Given the description of an element on the screen output the (x, y) to click on. 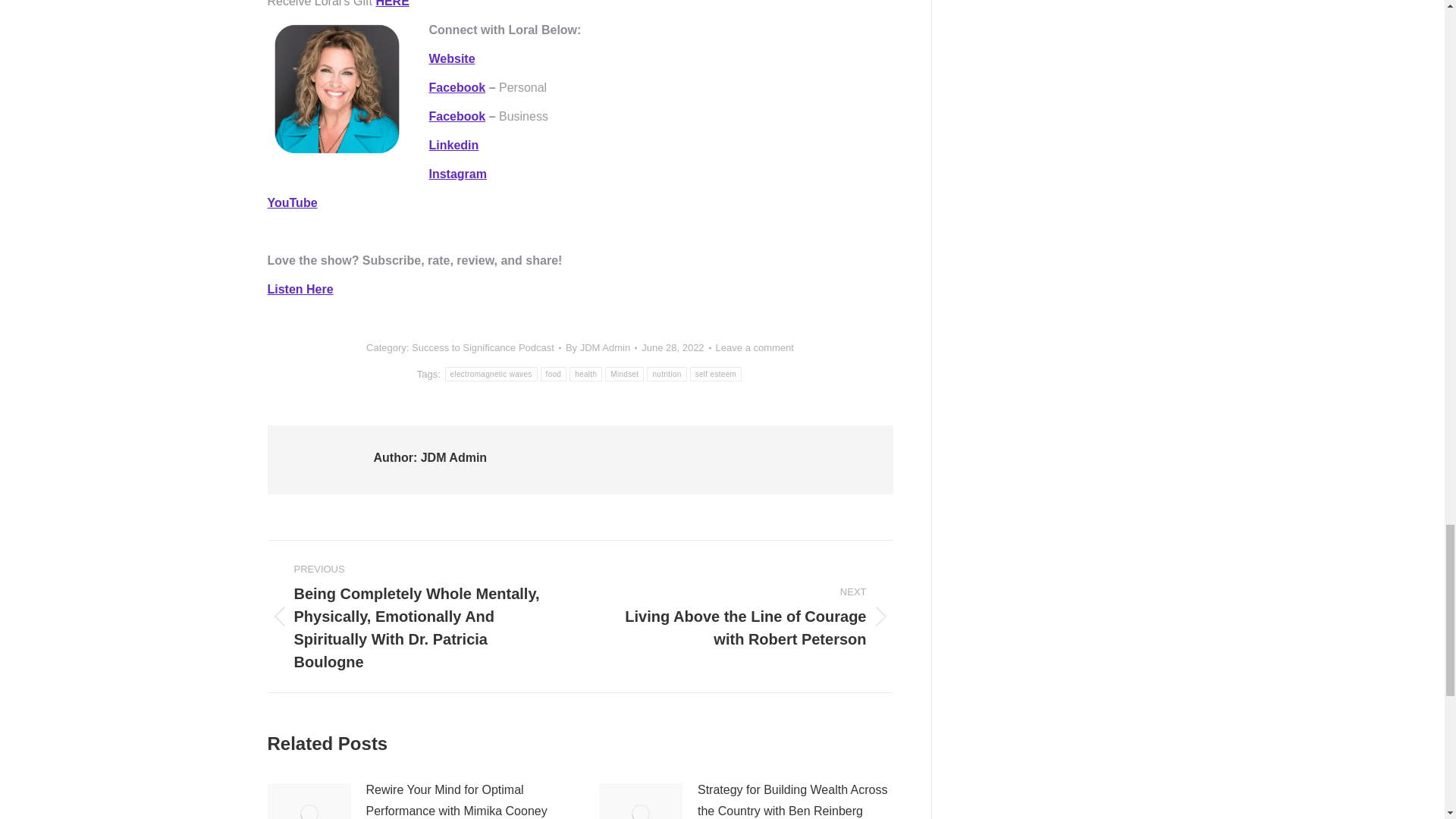
By JDM Admin (601, 347)
Leave a comment (754, 347)
Instagram (457, 173)
Success to Significance Podcast (483, 347)
Website (452, 58)
electromagnetic waves (491, 373)
food (553, 373)
Linkedin (454, 144)
June 28, 2022 (676, 347)
health (585, 373)
